Given the description of an element on the screen output the (x, y) to click on. 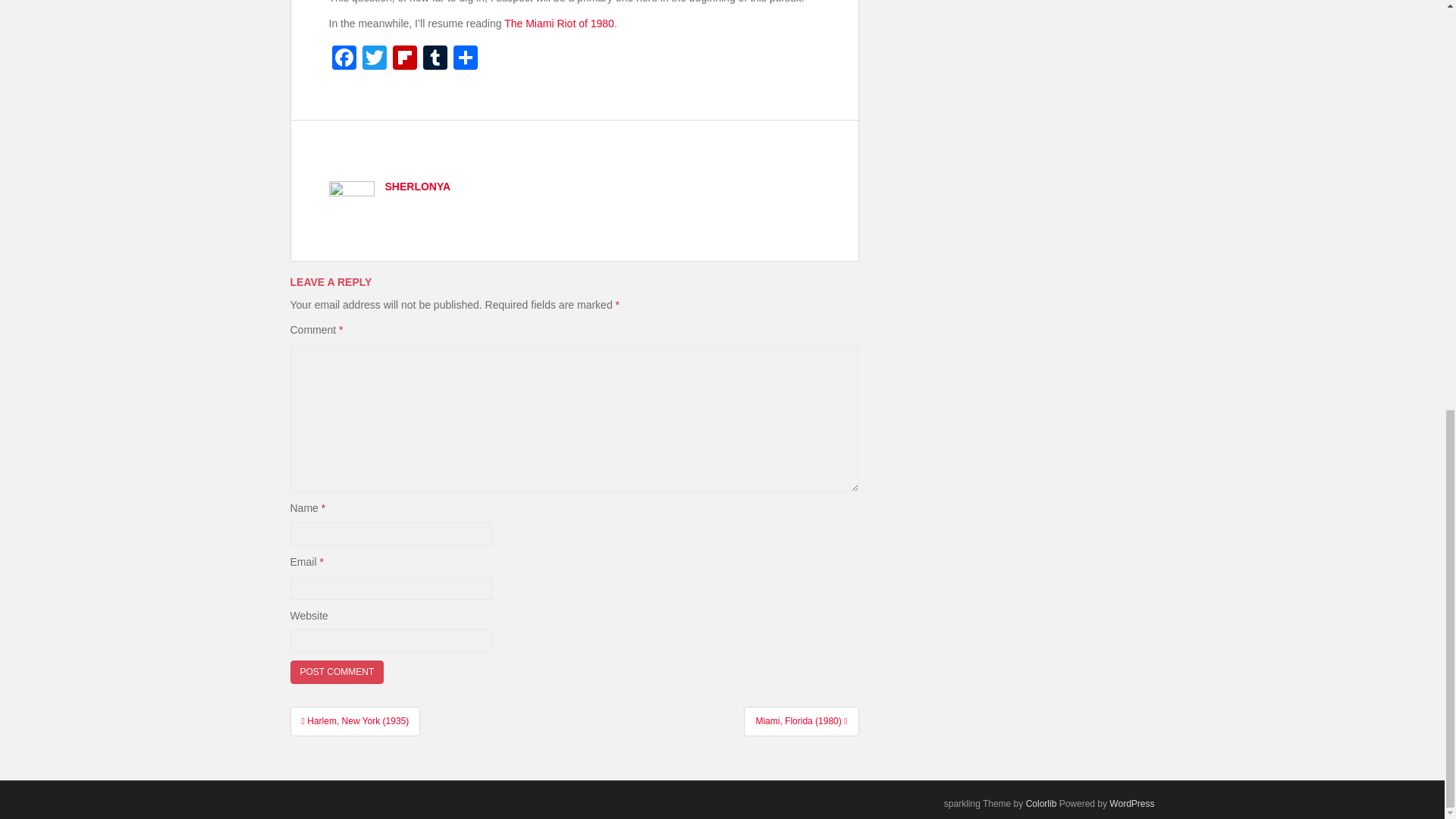
Tumblr (434, 59)
Post Comment (336, 671)
SHERLONYA (418, 186)
Post Comment (336, 671)
Tumblr (434, 59)
Flipboard (405, 59)
Colorlib (1041, 803)
Twitter (374, 59)
Facebook (344, 59)
Flipboard (405, 59)
